Given the description of an element on the screen output the (x, y) to click on. 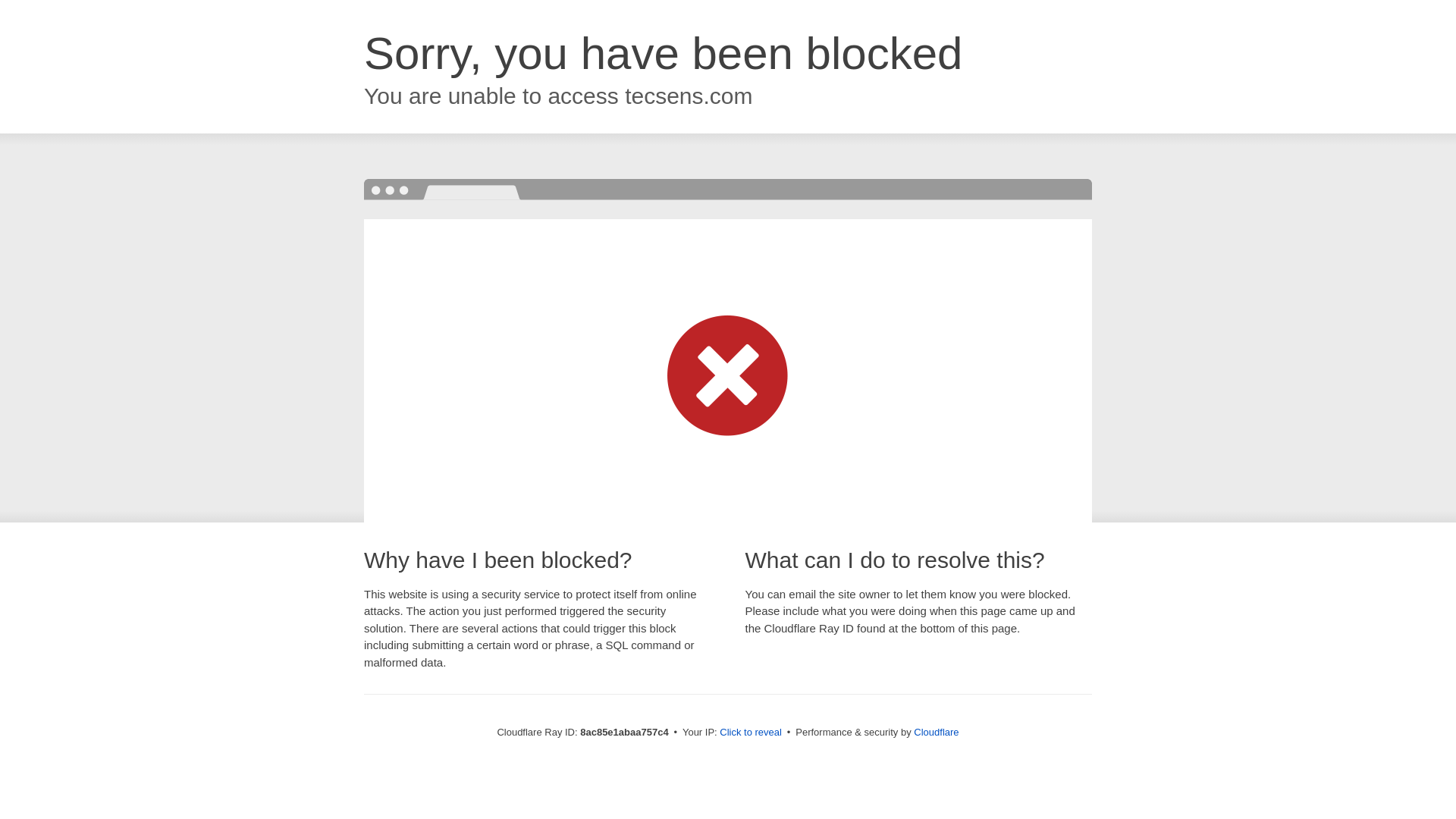
Cloudflare (936, 731)
Click to reveal (750, 732)
